Given the description of an element on the screen output the (x, y) to click on. 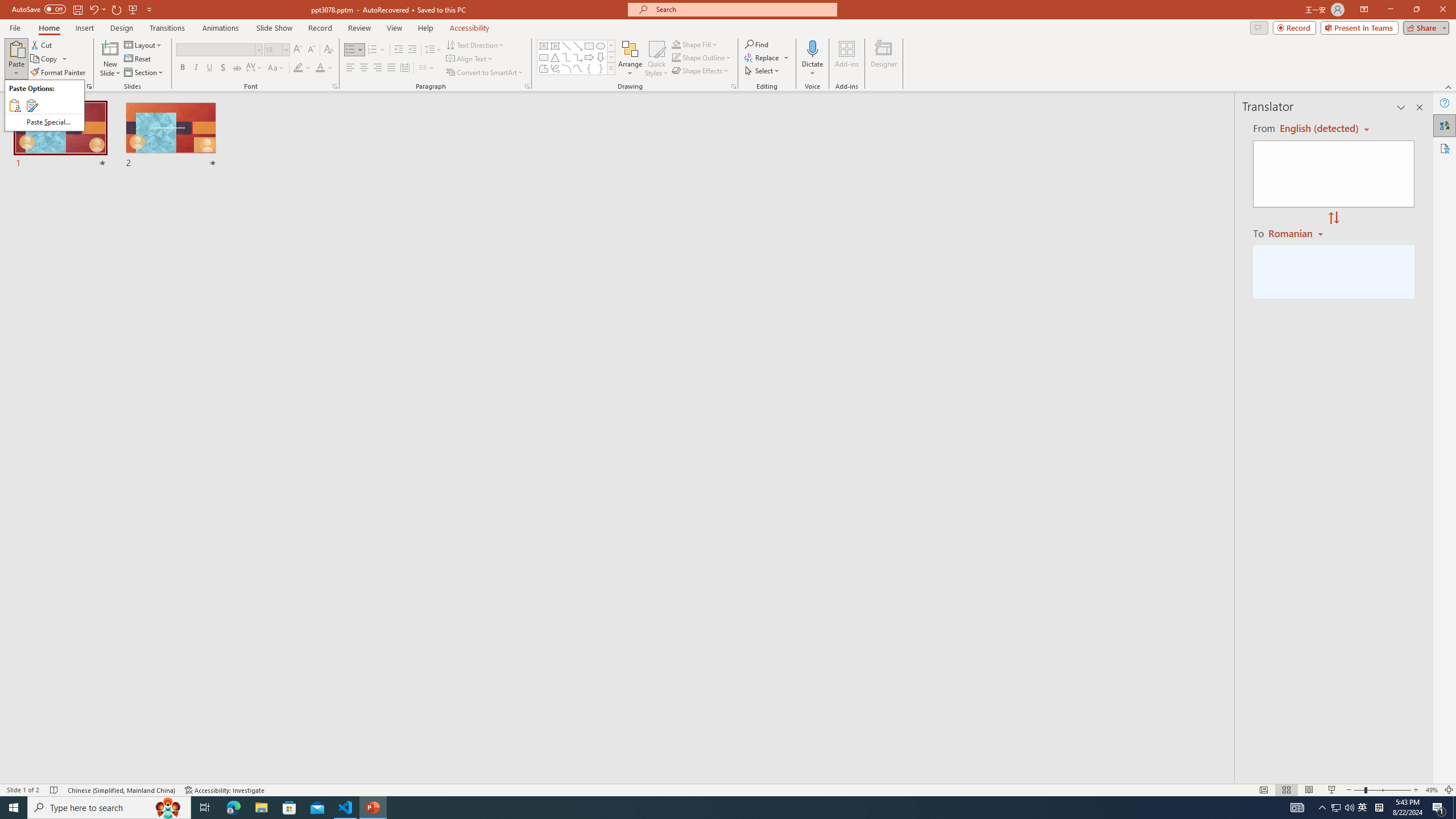
Arrow: Down (600, 57)
Change Case (276, 67)
Select (762, 69)
Czech (detected) (1319, 128)
Reset (138, 58)
Type here to search (108, 807)
Freeform: Shape (543, 68)
Vertical Text Box (554, 45)
Align Text (470, 58)
Shape Outline Green, Accent 1 (675, 56)
Font (219, 49)
Left Brace (589, 68)
